Given the description of an element on the screen output the (x, y) to click on. 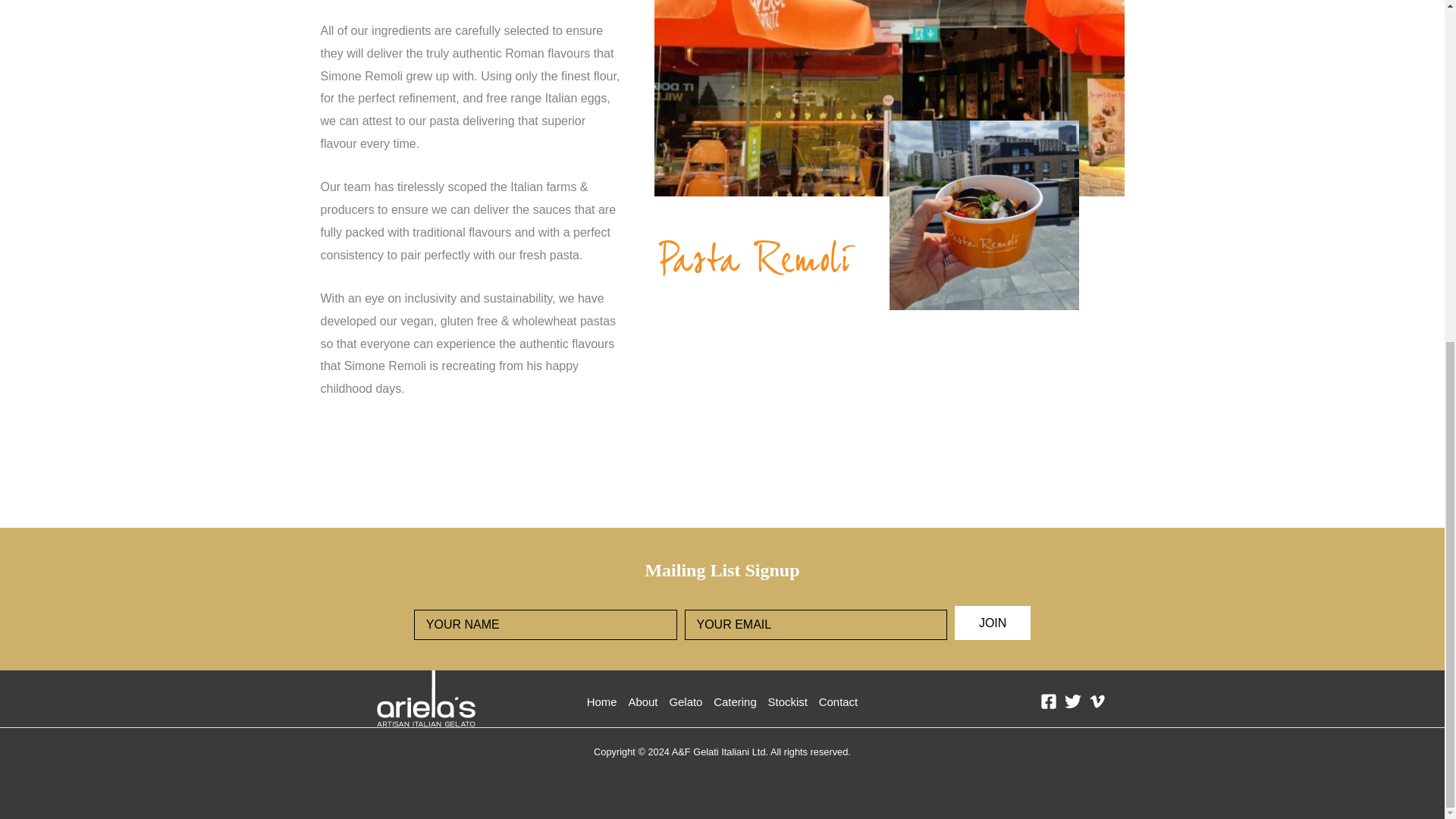
Stockist (786, 709)
Pasta Remoli (888, 98)
Pasta Remoli2 (983, 215)
Pasta Remoli (756, 257)
Click Here (992, 622)
Gelato (685, 709)
About (643, 709)
Catering (734, 709)
Home (604, 709)
JOIN (992, 622)
